Given the description of an element on the screen output the (x, y) to click on. 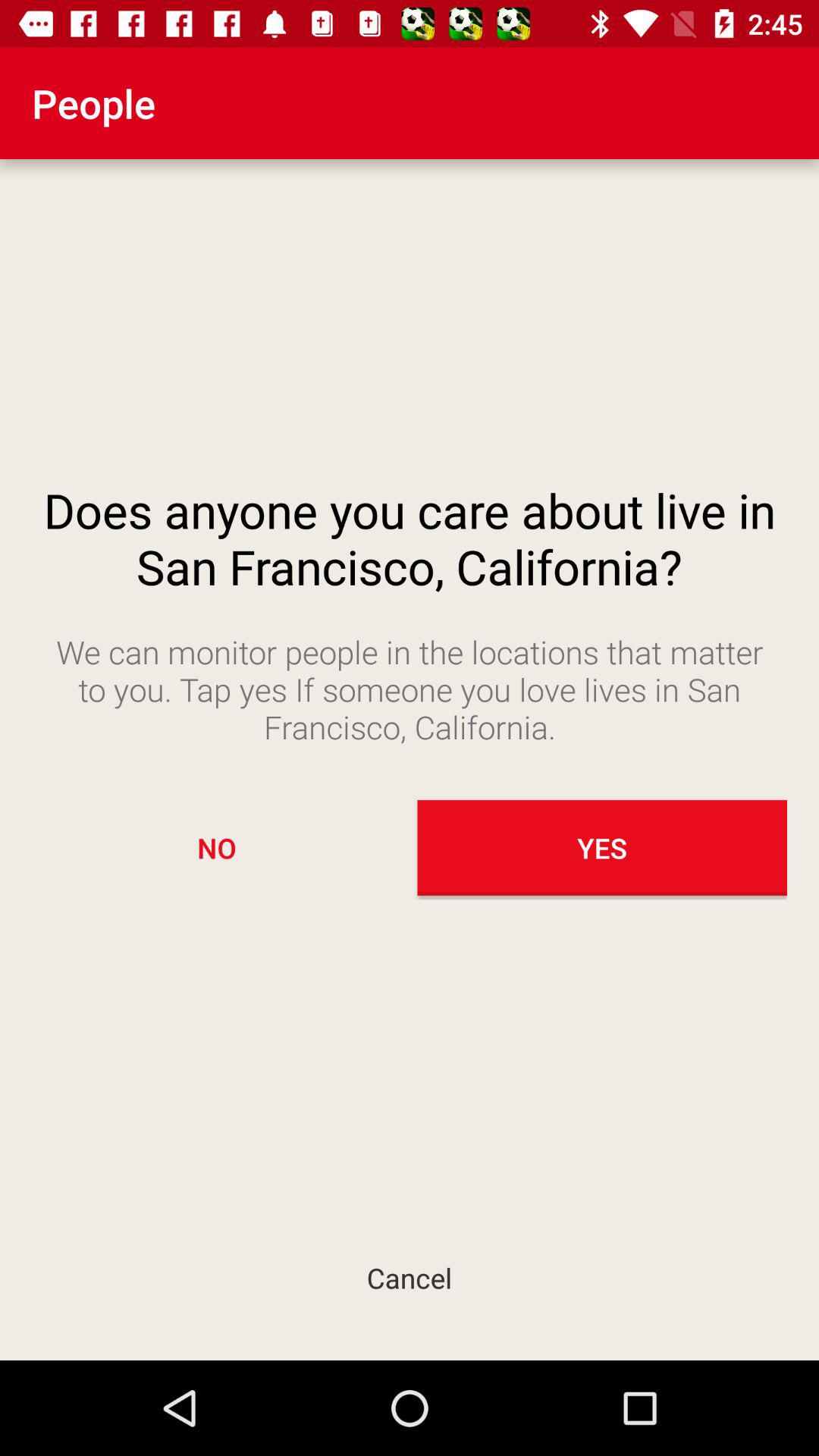
scroll until the cancel (409, 1277)
